Given the description of an element on the screen output the (x, y) to click on. 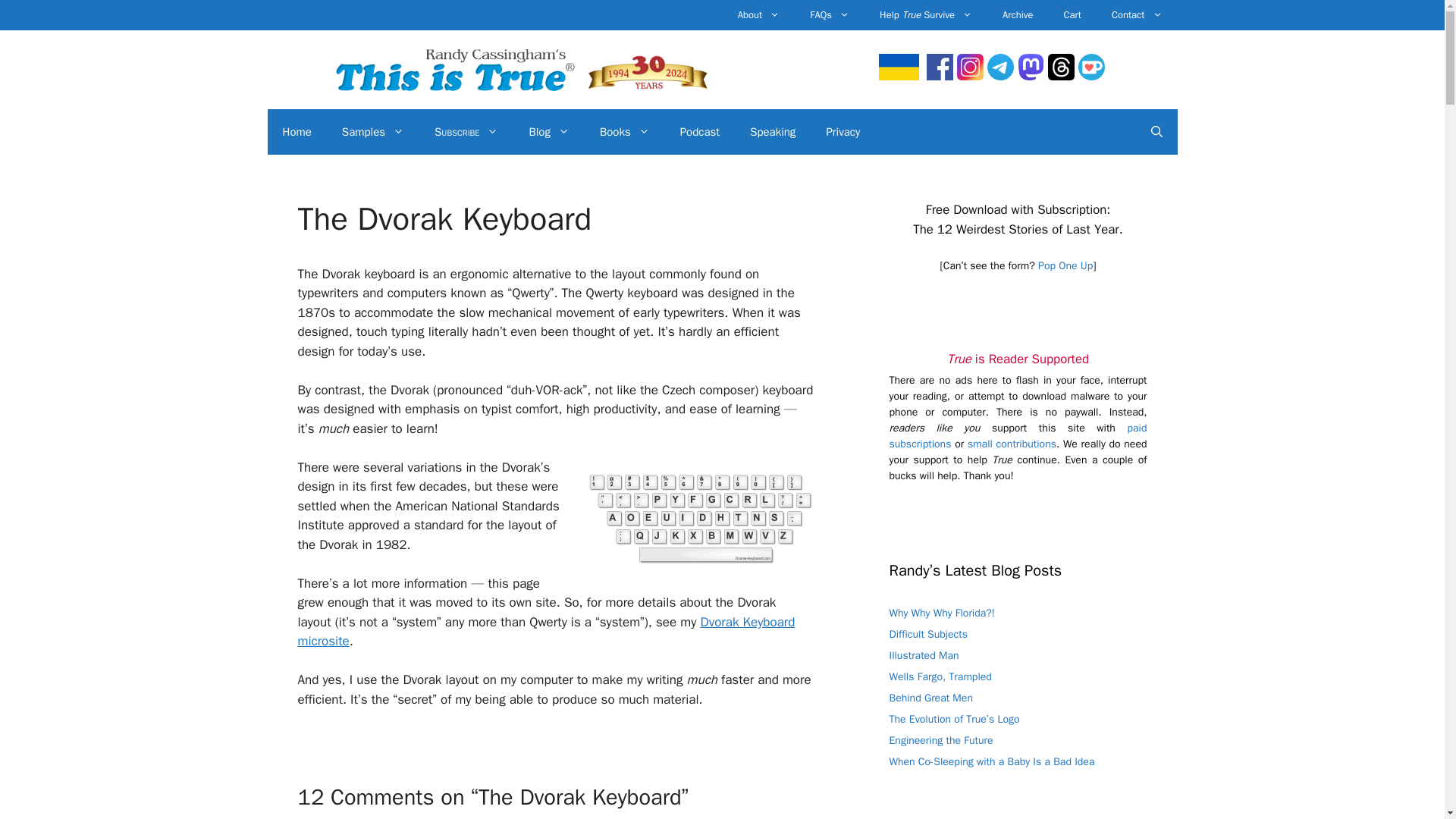
TRUE on Telegram (1000, 75)
Archive (1017, 15)
TRUE on Instagram (970, 75)
About (758, 15)
Cart (1072, 15)
TRUE on Facebook (939, 75)
TRUE on threads (1061, 75)
TRUE supports Ukraine. (898, 75)
Support TRUE on Ko-fi (1012, 443)
TRUE on Mastodon (1030, 75)
